Given the description of an element on the screen output the (x, y) to click on. 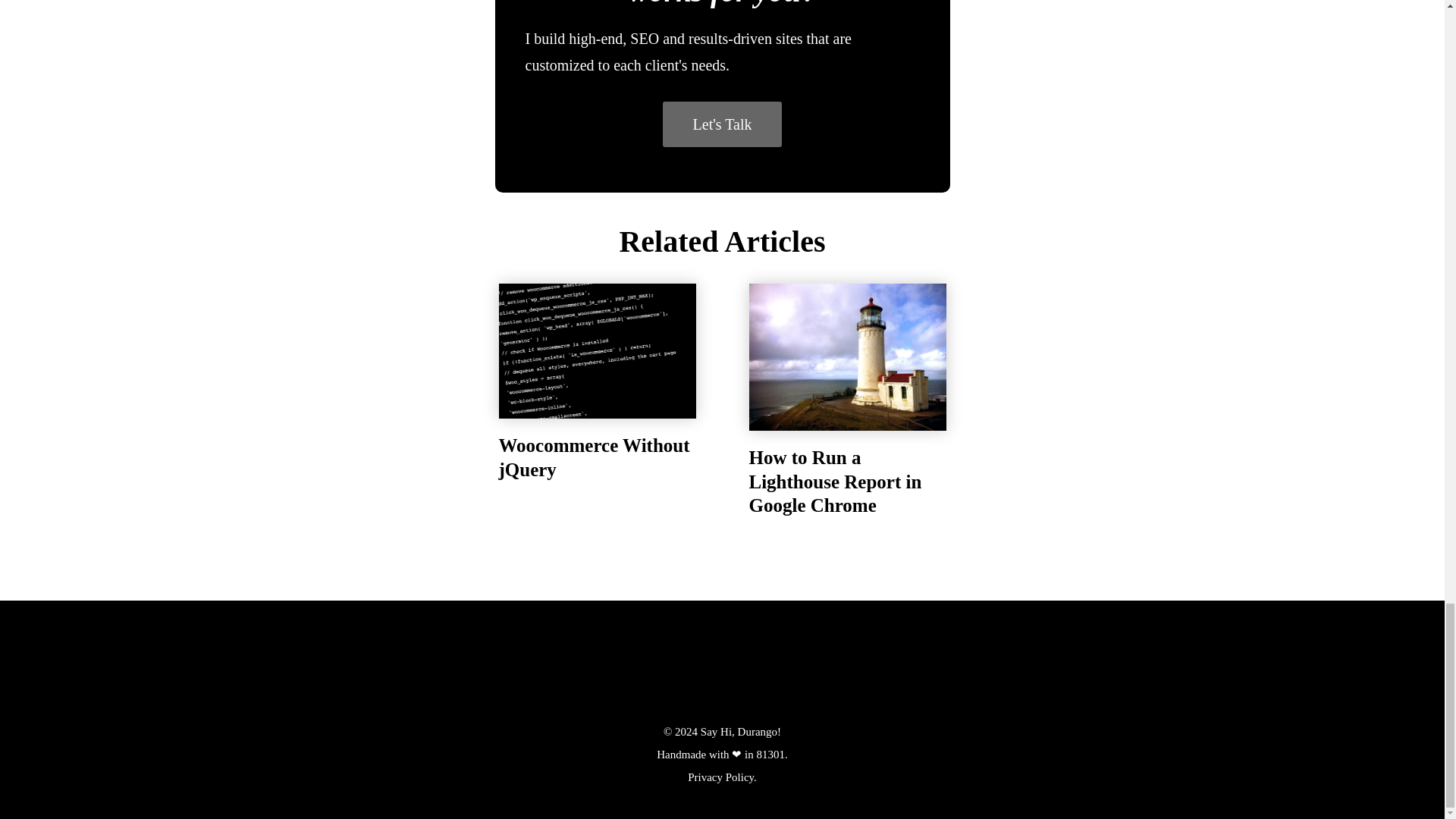
Woocommerce Without jQuery (596, 378)
Let's Talk (722, 124)
Privacy Policy. (722, 776)
Return to the Say Hi, Durango! homepage (721, 667)
